Given the description of an element on the screen output the (x, y) to click on. 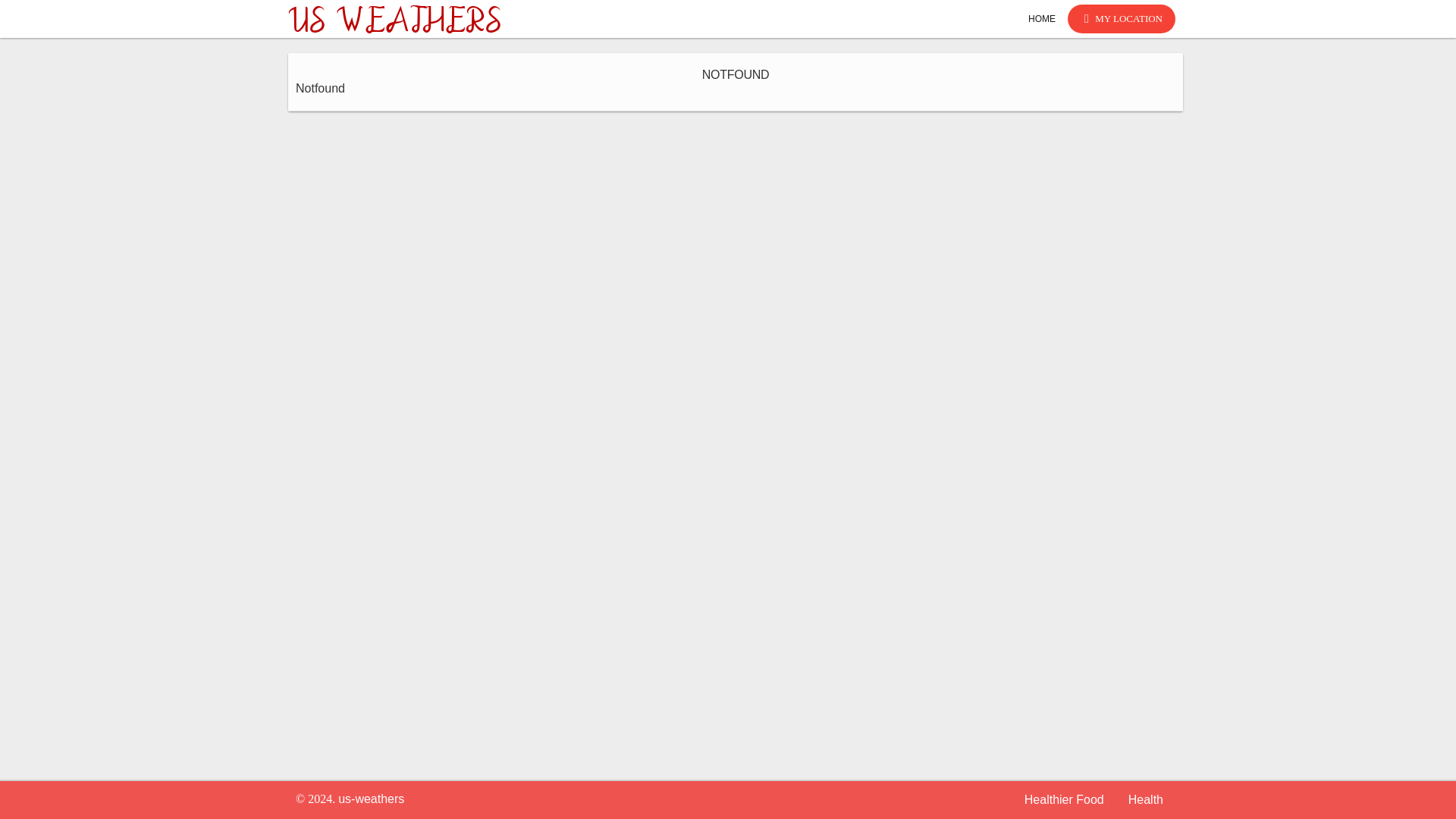
MY LOCATION (1120, 18)
us-weathers (370, 798)
Site Title (394, 18)
HOME (1041, 18)
